Given the description of an element on the screen output the (x, y) to click on. 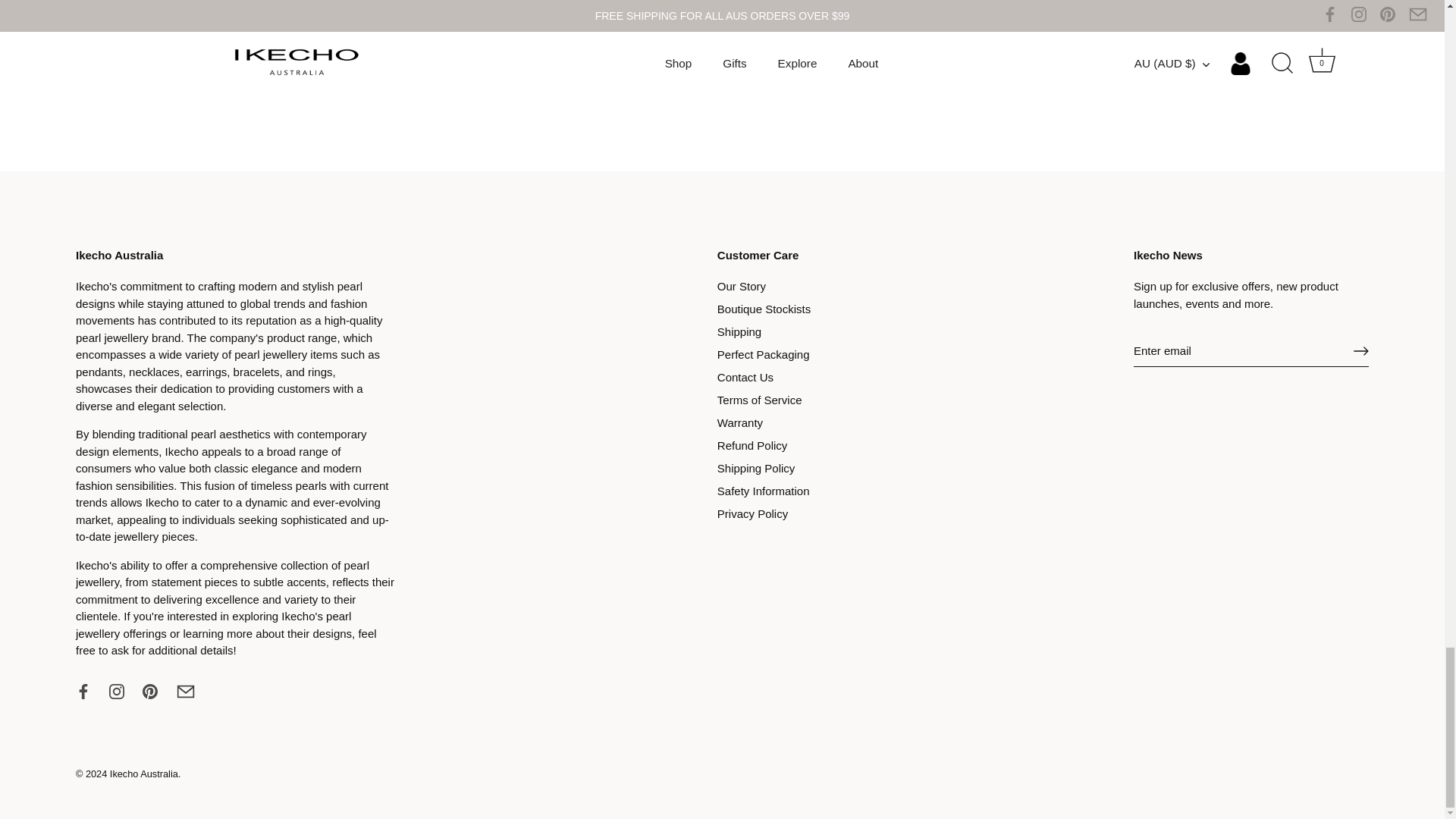
Pinterest (149, 691)
RIGHT ARROW LONG (1361, 350)
Instagram (116, 691)
